Given the description of an element on the screen output the (x, y) to click on. 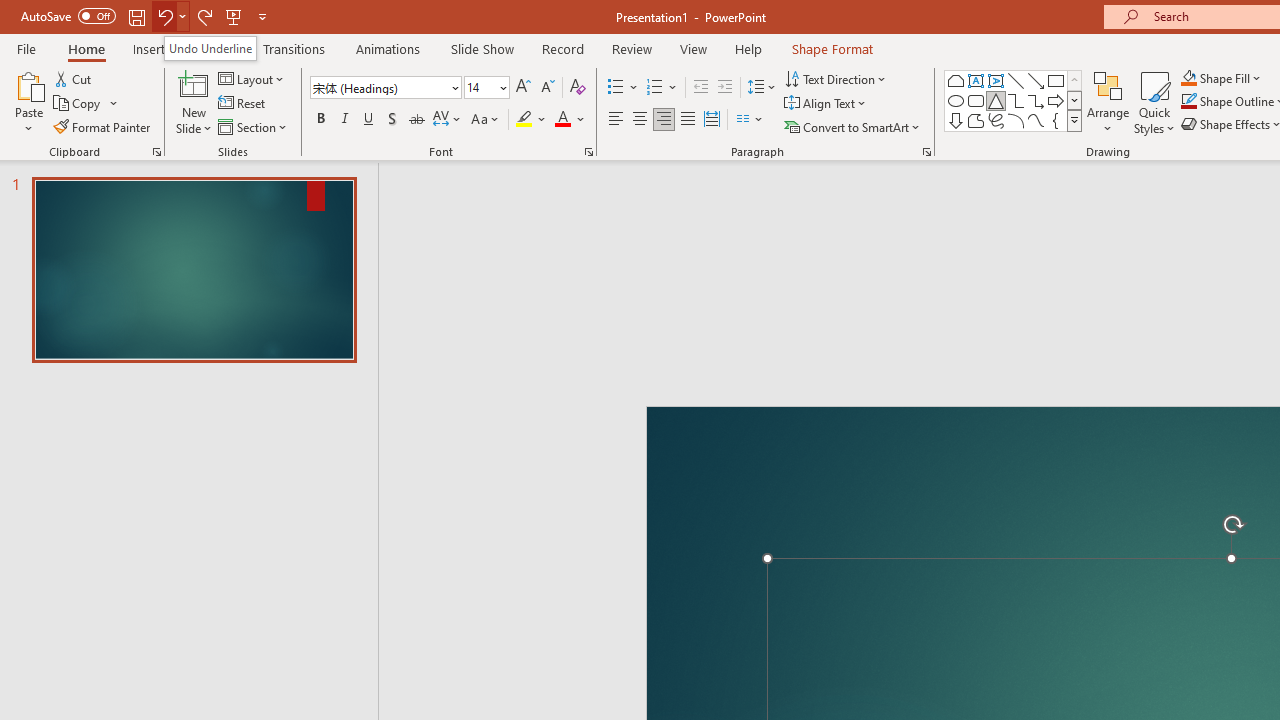
Undo Underline (210, 48)
